Given the description of an element on the screen output the (x, y) to click on. 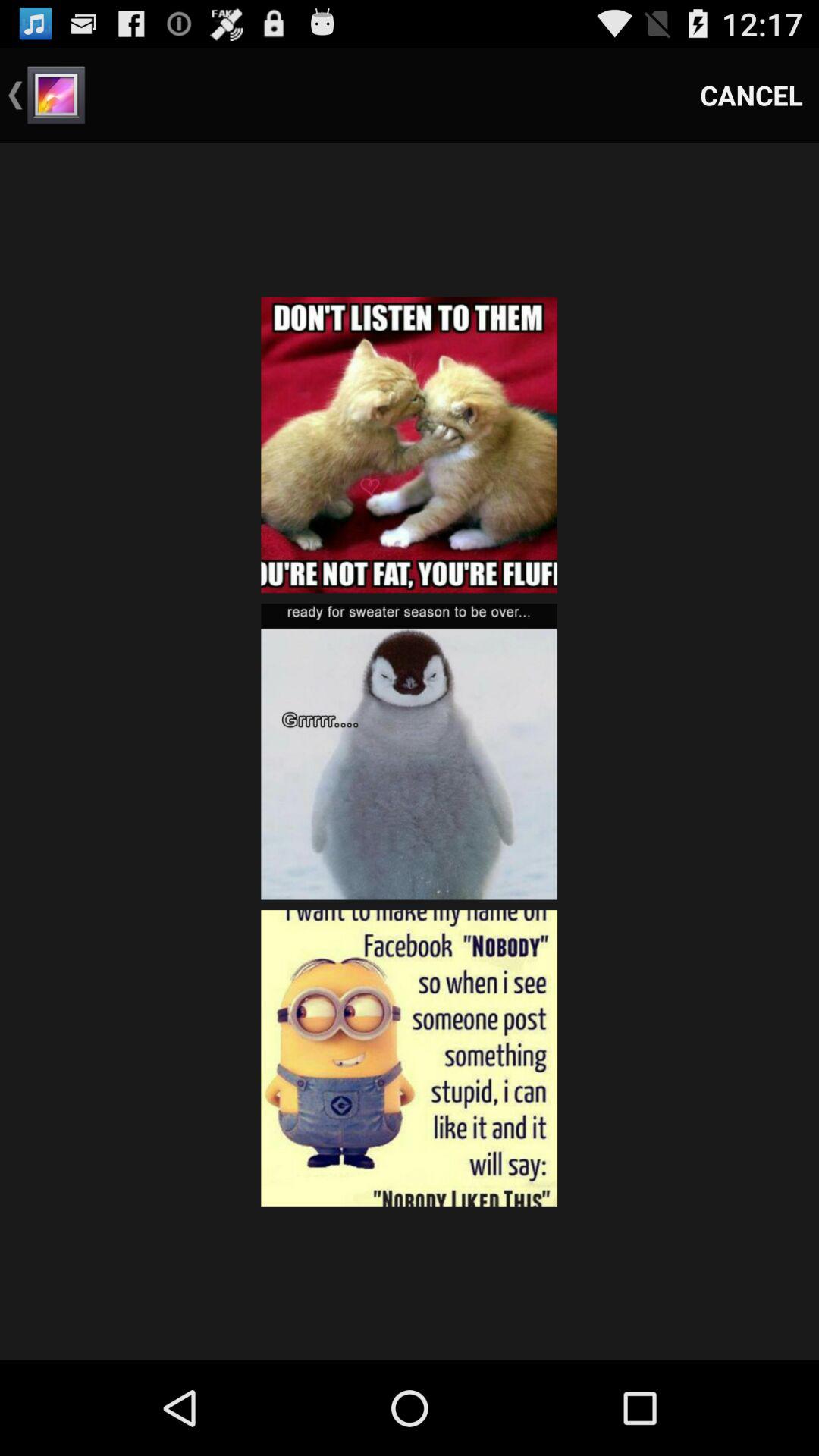
choose the cancel at the top right corner (751, 95)
